Given the description of an element on the screen output the (x, y) to click on. 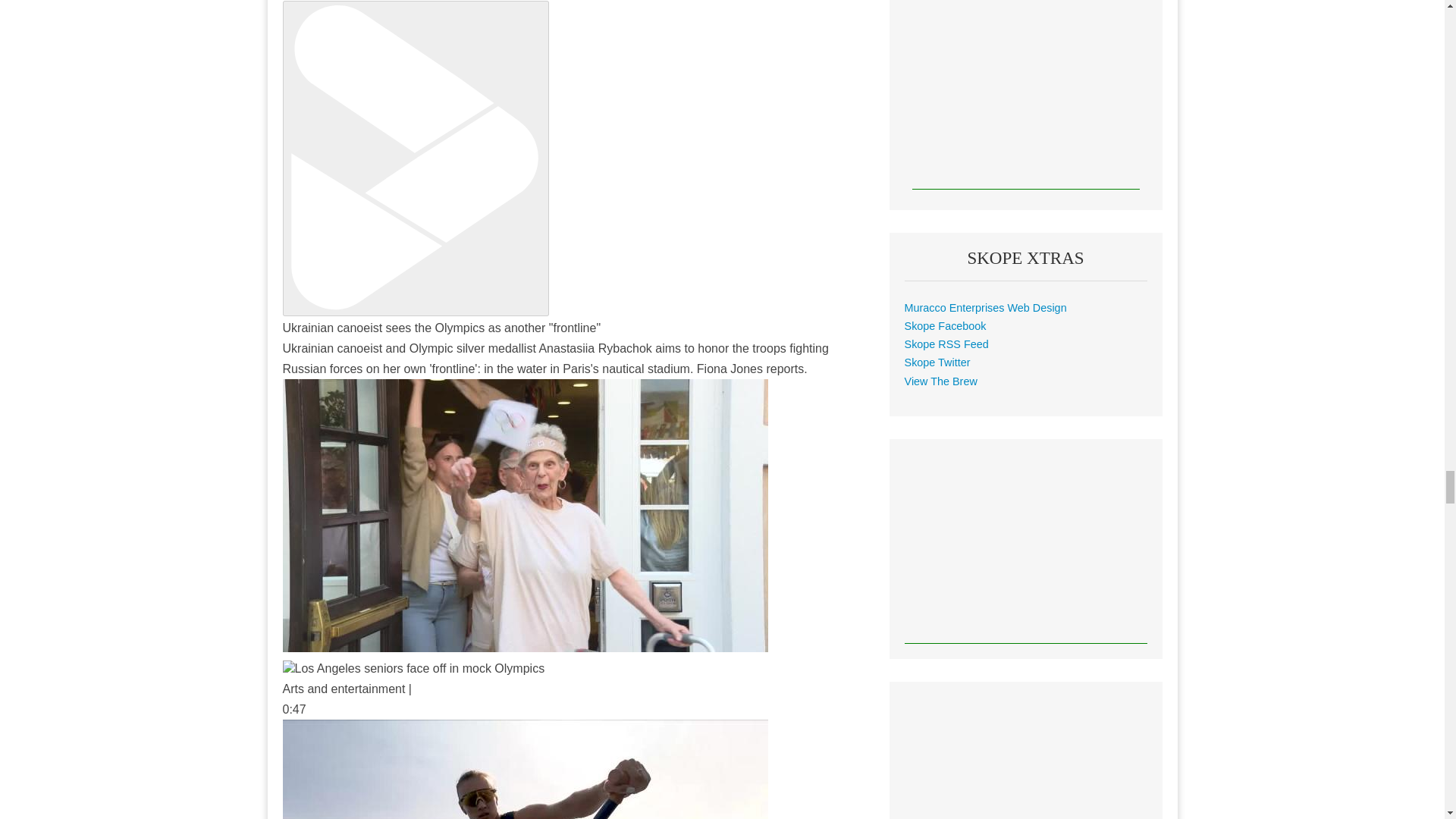
Skopemag.com RSS Feed (946, 344)
